Given the description of an element on the screen output the (x, y) to click on. 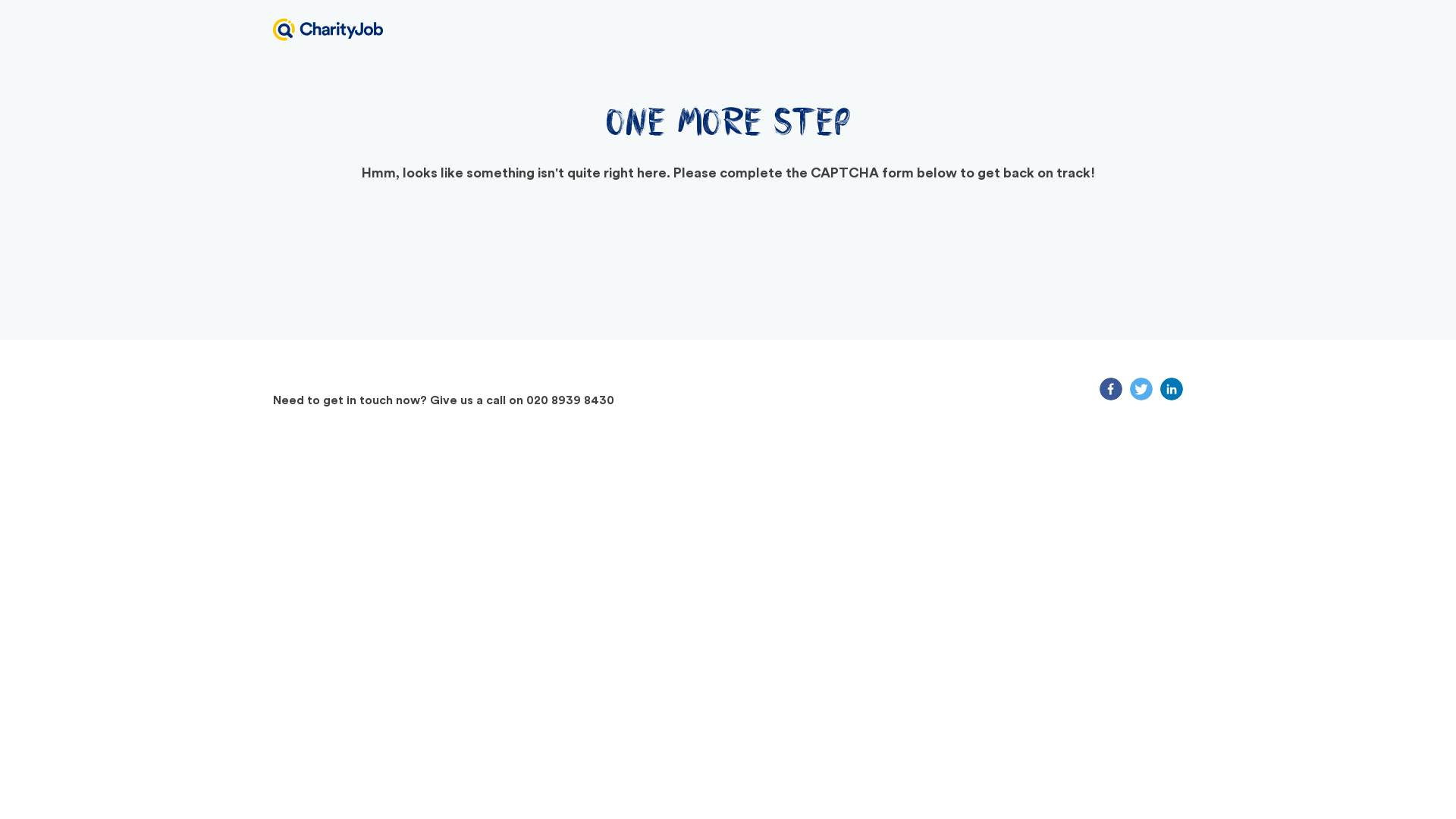
Twitter (1141, 388)
020 8939 8430 (569, 399)
LinkedIn (1171, 388)
CharityJob (327, 29)
Facebook (1110, 388)
